Given the description of an element on the screen output the (x, y) to click on. 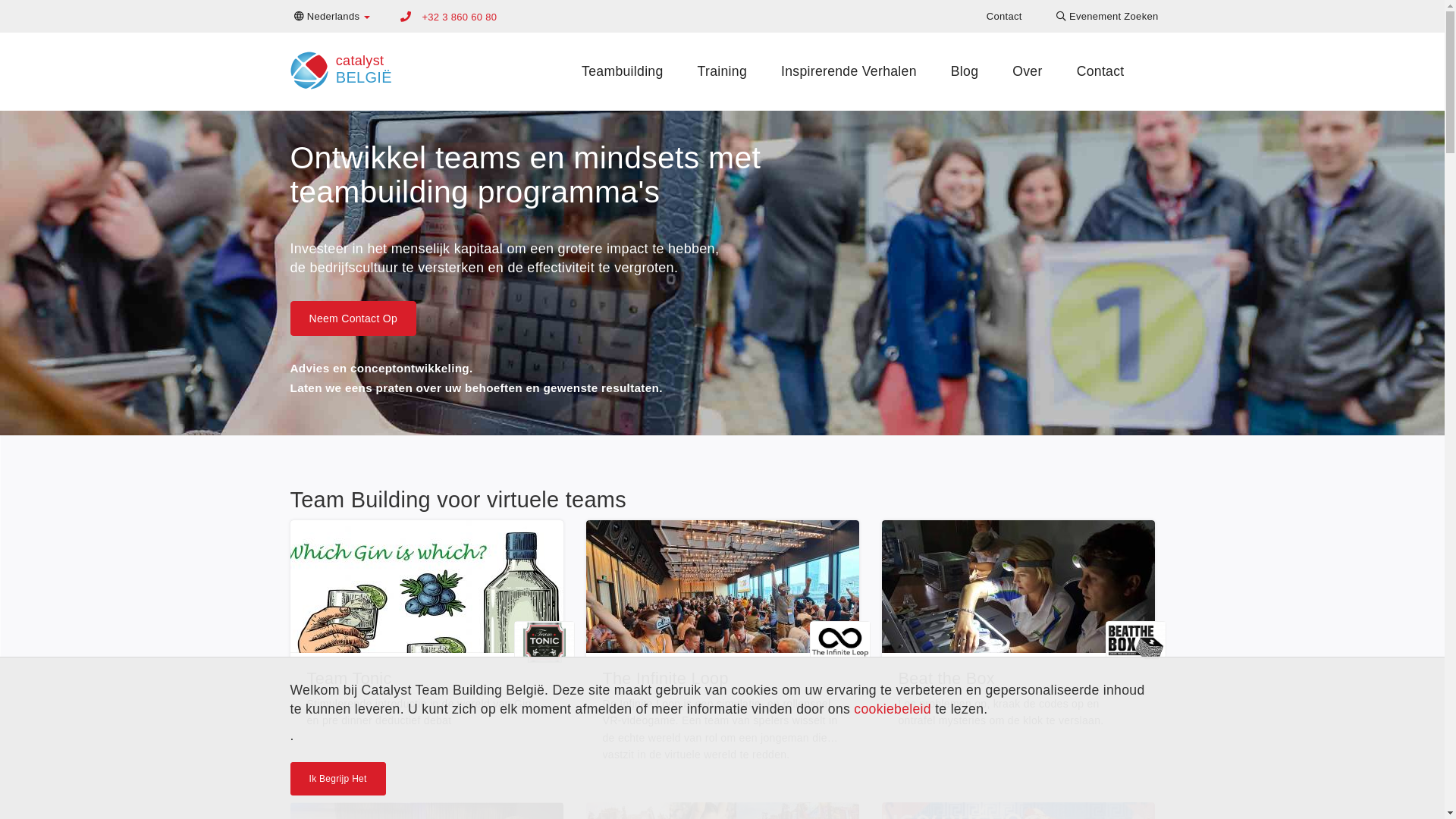
Contact Element type: text (1004, 16)
cookiebeleid Element type: text (892, 708)
Blog Element type: text (964, 71)
Evenement Zoeken Element type: text (1107, 16)
Neem Contact Op Element type: text (352, 318)
Training Element type: text (722, 71)
Inspirerende Verhalen Element type: text (848, 71)
Teambuilding Element type: text (621, 71)
Ik Begrijp Het Element type: text (337, 778)
Nederlands Element type: text (332, 16)
Over Element type: text (1027, 71)
Contact Element type: text (1100, 71)
+32 3 860 60 80 Element type: text (458, 16)
